Given the description of an element on the screen output the (x, y) to click on. 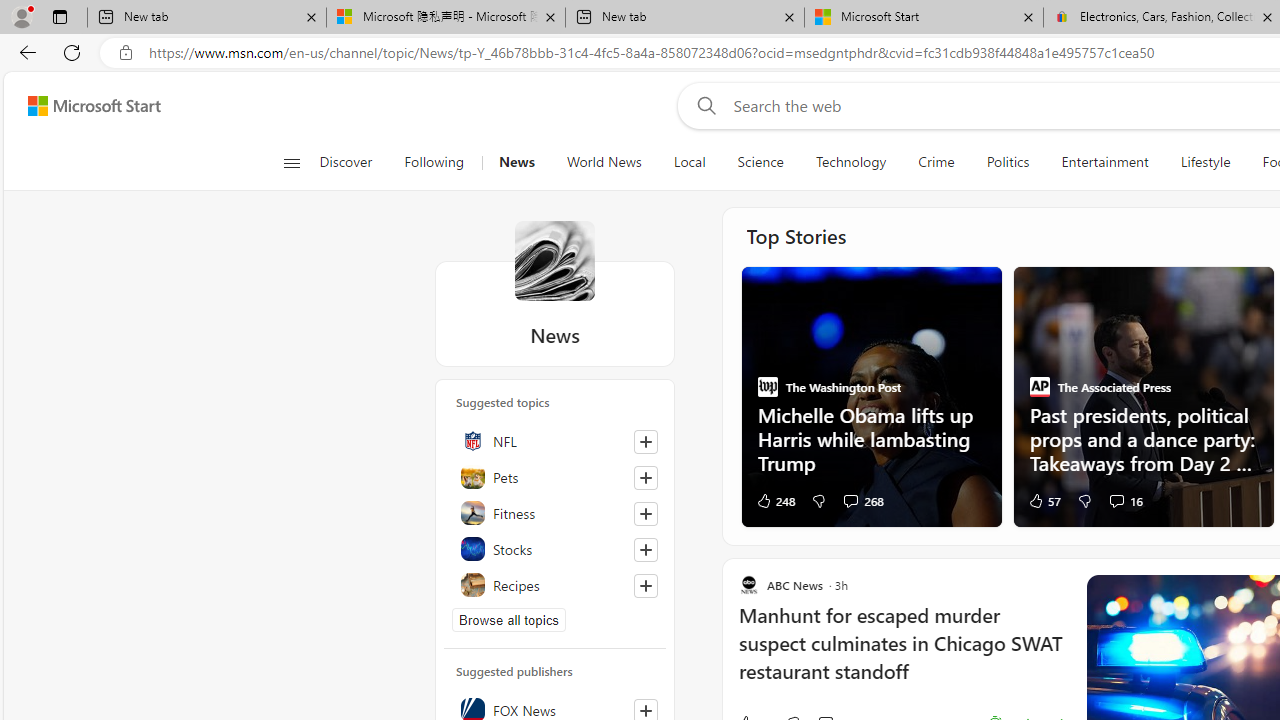
Recipes (555, 584)
Entertainment (1104, 162)
Entertainment (1105, 162)
Lifestyle (1205, 162)
Crime (936, 162)
57 Like (1043, 500)
Skip to footer (82, 105)
Crime (935, 162)
NFL (555, 440)
